Given the description of an element on the screen output the (x, y) to click on. 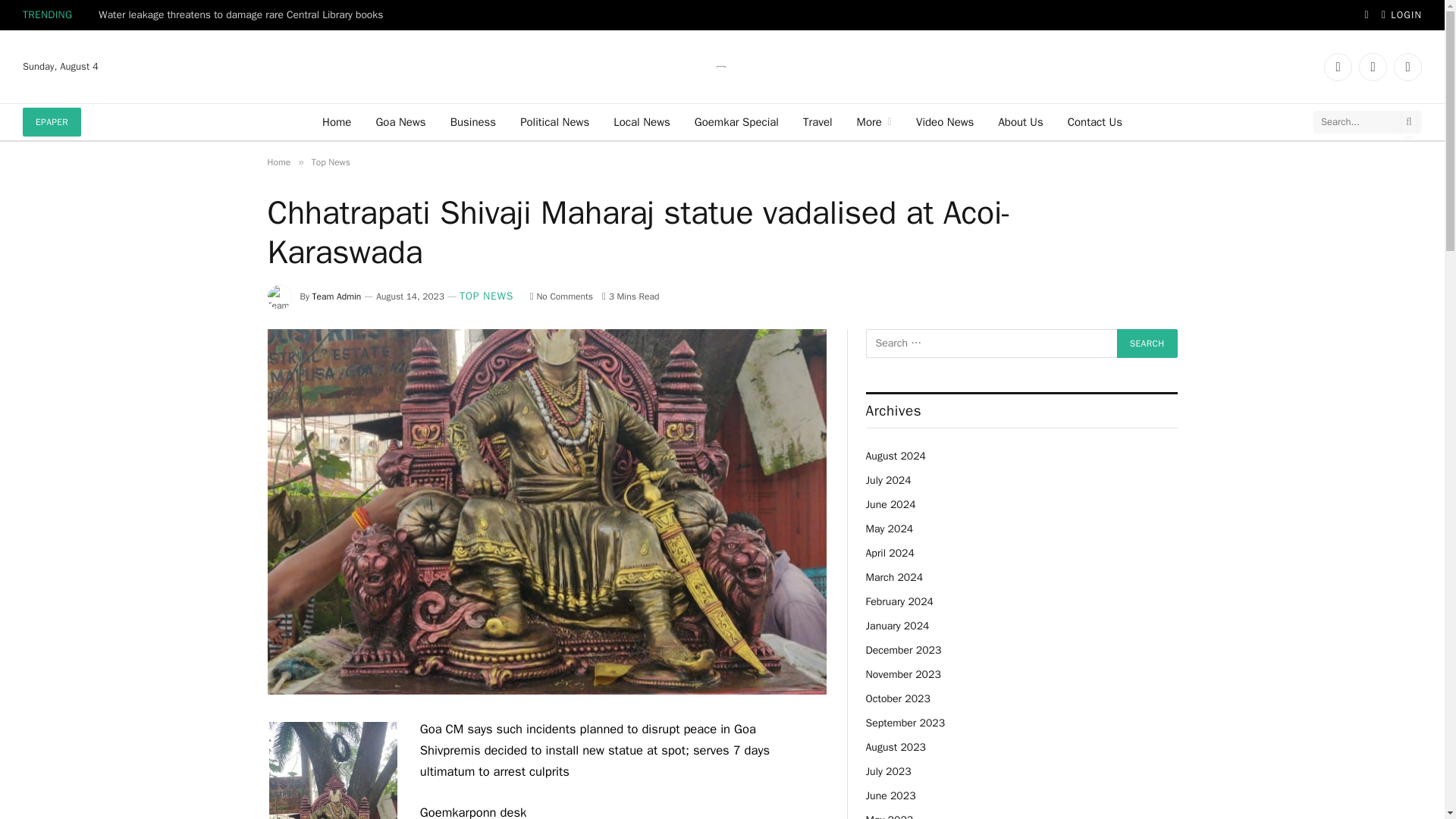
Search (1146, 343)
LOGIN (1401, 15)
Instagram (1407, 67)
EPAPER (52, 121)
Video News (944, 122)
More (874, 122)
Home (336, 122)
Search (1146, 343)
Local News (641, 122)
Political News (554, 122)
Switch to Dark Design - easier on eyes. (1366, 14)
Travel (817, 122)
About Us (1019, 122)
Goa News (400, 122)
